Given the description of an element on the screen output the (x, y) to click on. 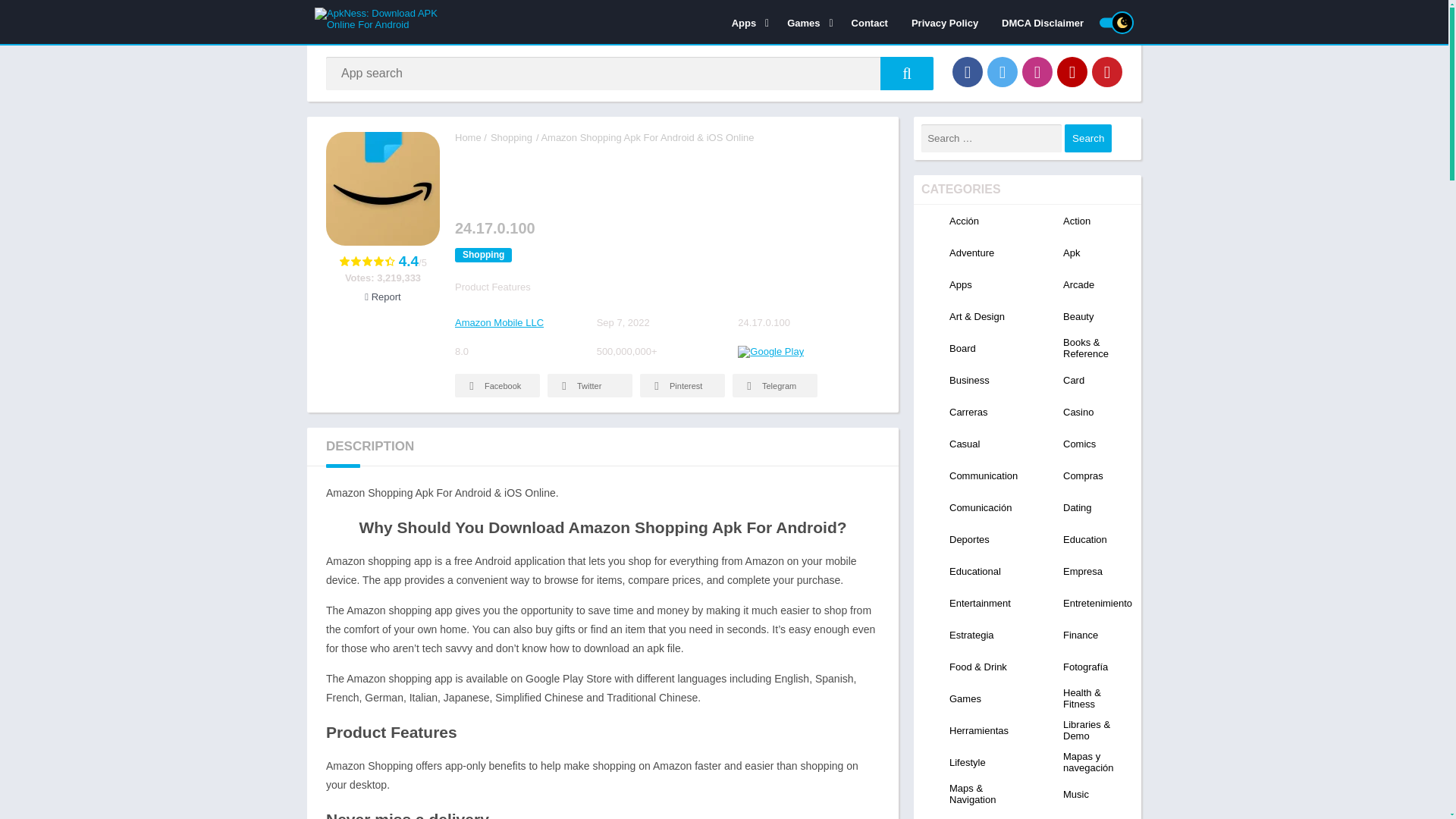
Home (467, 137)
Games (807, 22)
Search (1088, 138)
Twitter (589, 385)
Report (382, 296)
Instagram (1037, 71)
Apps (748, 22)
Privacy Policy (944, 22)
Shopping (511, 137)
Amazon Mobile LLC (498, 322)
Twitter (1002, 71)
Contact (869, 22)
App search (906, 73)
Telegram (774, 385)
YouTube (1072, 71)
